Given the description of an element on the screen output the (x, y) to click on. 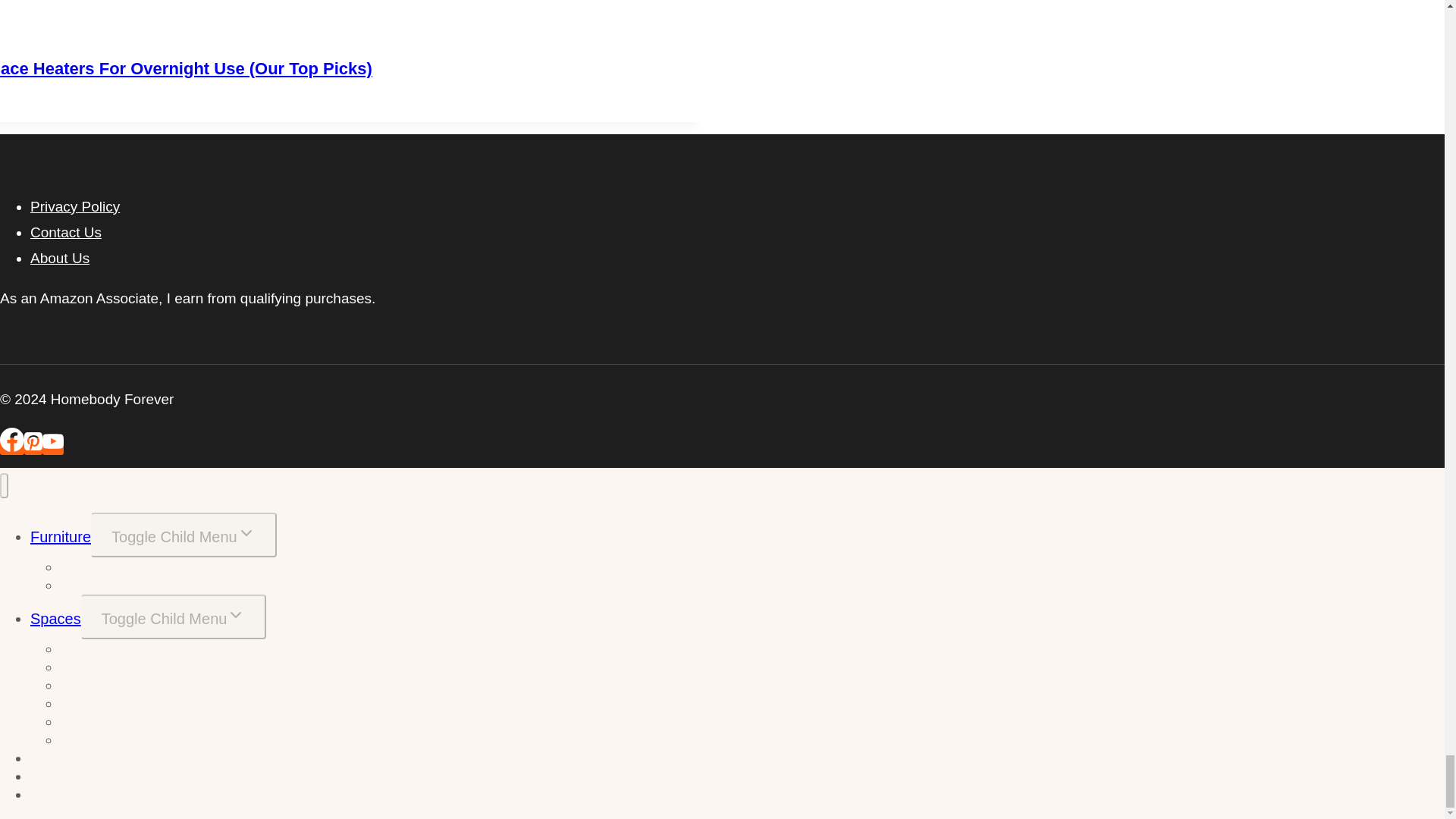
YouTube (53, 441)
Facebook (12, 439)
Expand (235, 615)
Expand (246, 533)
